Given the description of an element on the screen output the (x, y) to click on. 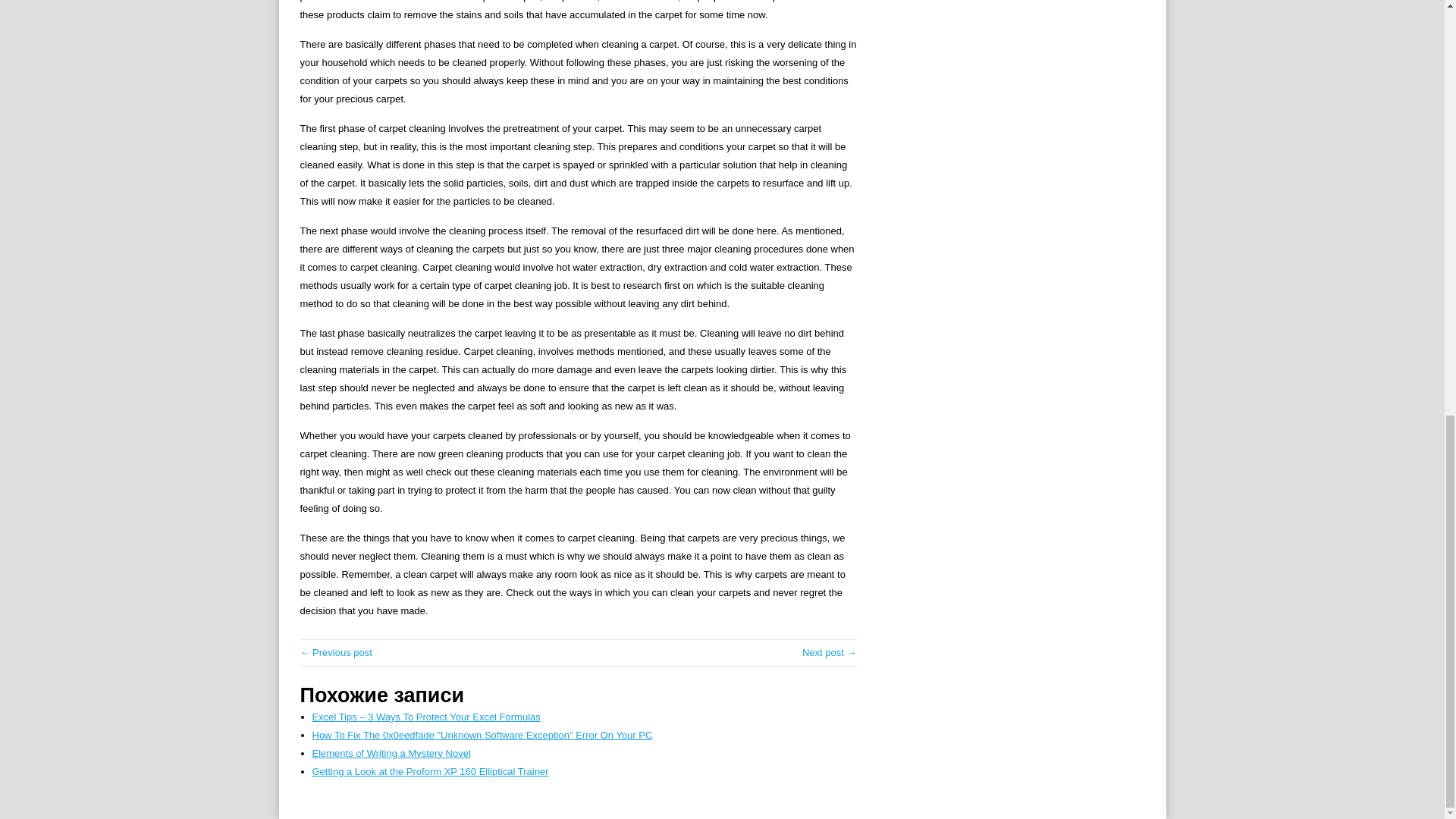
Getting a Look at the Proform XP 160 Elliptical Trainer (430, 771)
PayPal and Click2Sell (335, 652)
Elements of Writing a Mystery Novel (391, 753)
Investing Basics - The 4 Pillars of Investing (829, 652)
